Given the description of an element on the screen output the (x, y) to click on. 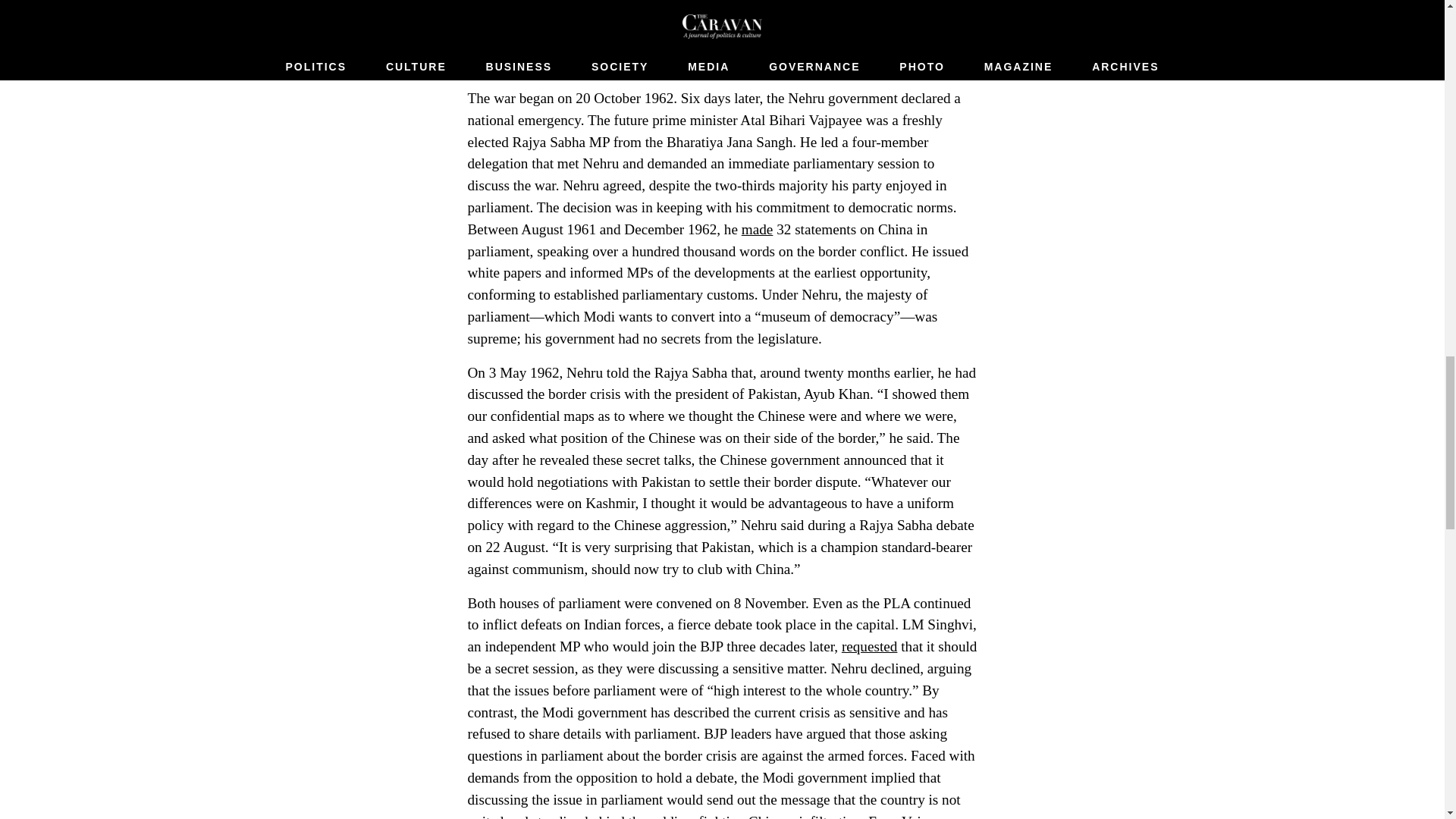
requested (869, 646)
made (757, 229)
